Given the description of an element on the screen output the (x, y) to click on. 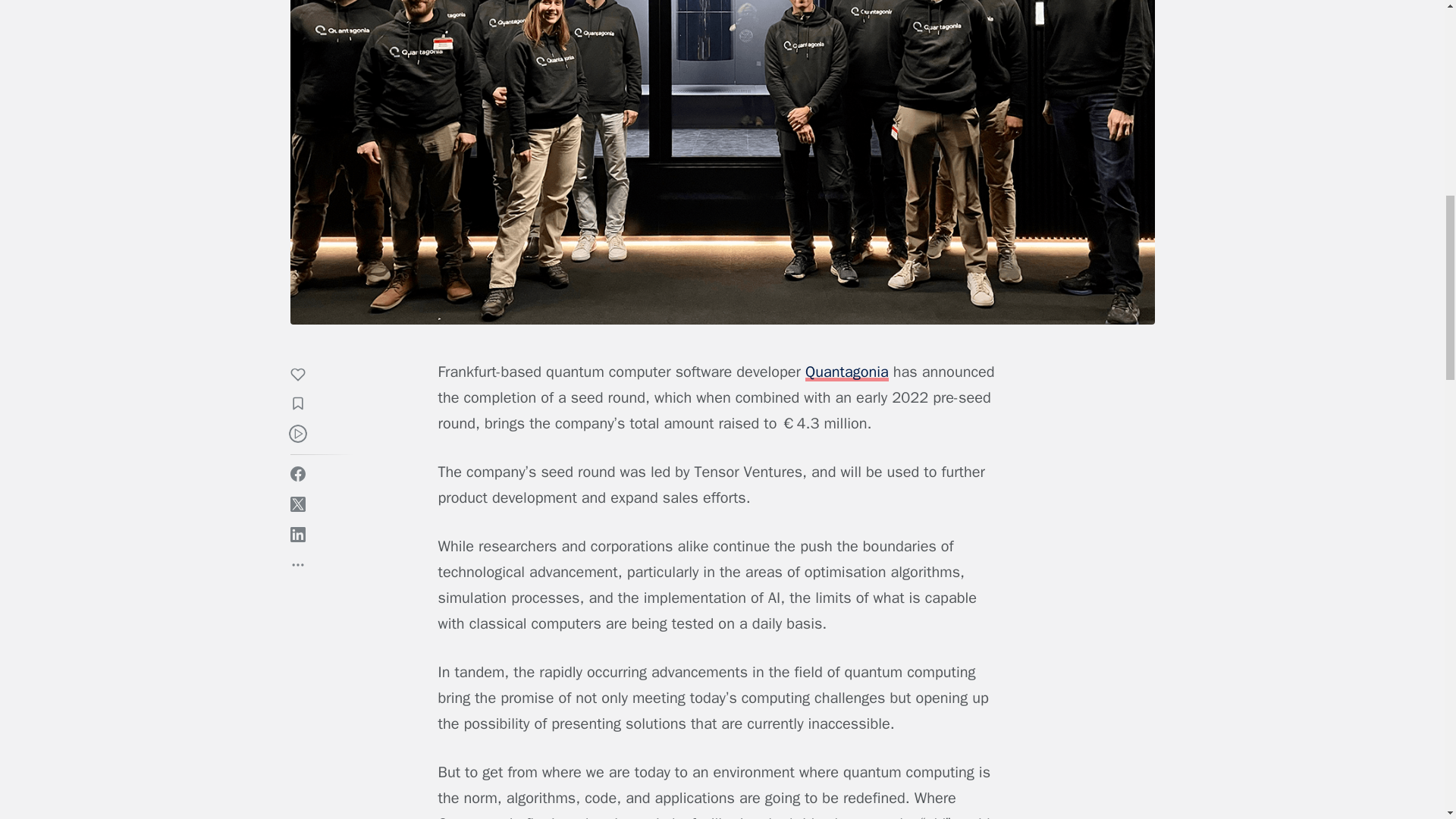
Like (304, 376)
Share on Facebook (296, 473)
Share on Twitter (296, 503)
Add to collection (304, 405)
Listen this article (296, 434)
Share on Linkedin (296, 534)
